Given the description of an element on the screen output the (x, y) to click on. 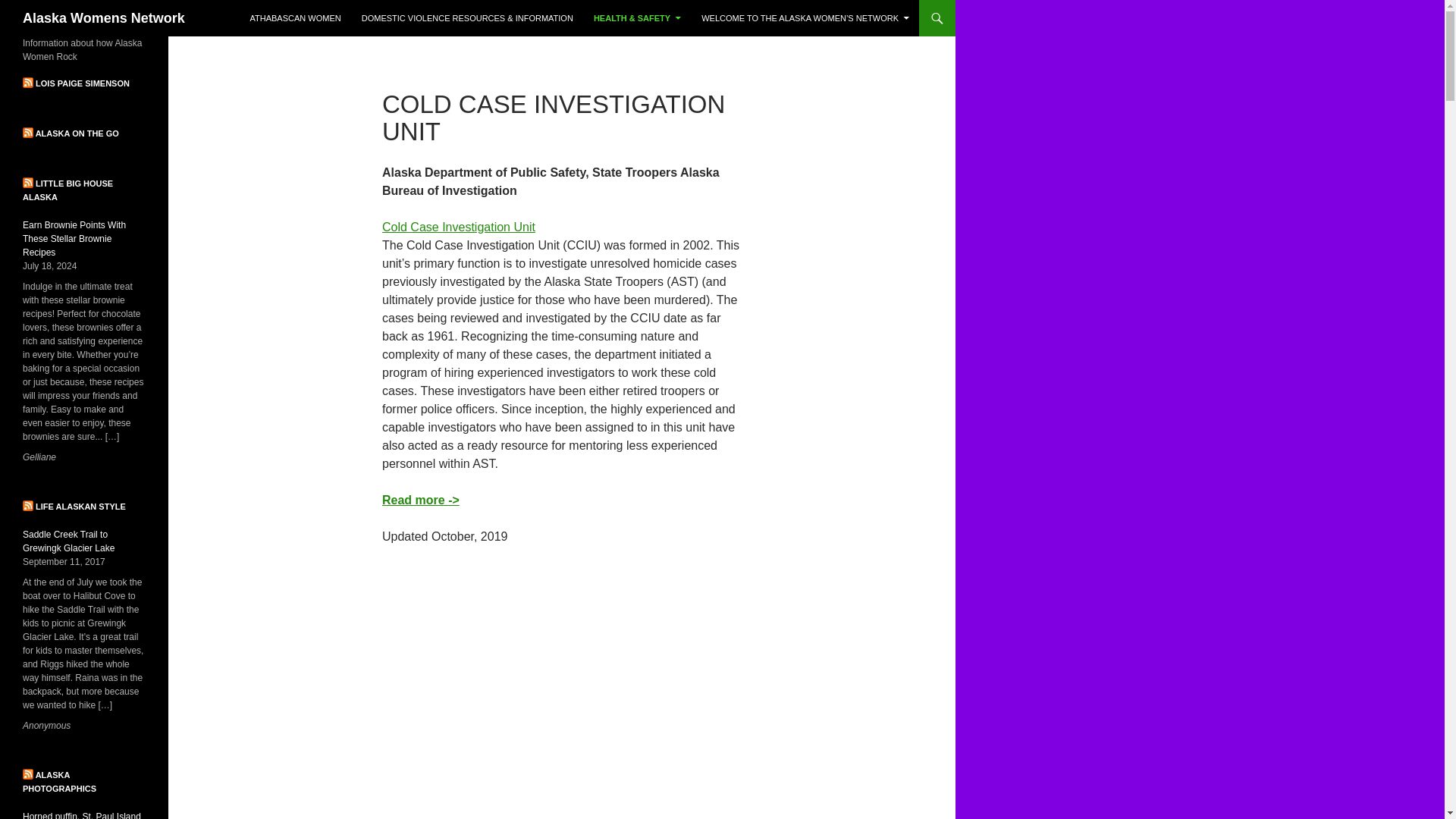
Earn Brownie Points With These Stellar Brownie Recipes (74, 238)
Saddle Creek Trail to Grewingk Glacier Lake (69, 541)
ALASKA PHOTOGRAPHICS (59, 781)
LITTLE BIG HOUSE ALASKA (68, 190)
ALASKA ON THE GO (76, 133)
LOIS PAIGE SIMENSON (81, 82)
LIFE ALASKAN STYLE (79, 506)
Alaska Womens Network (103, 18)
Cold Case Investigation Unit (458, 226)
Horned puffin, St. Paul Island (82, 815)
ATHABASCAN WOMEN (294, 18)
